Given the description of an element on the screen output the (x, y) to click on. 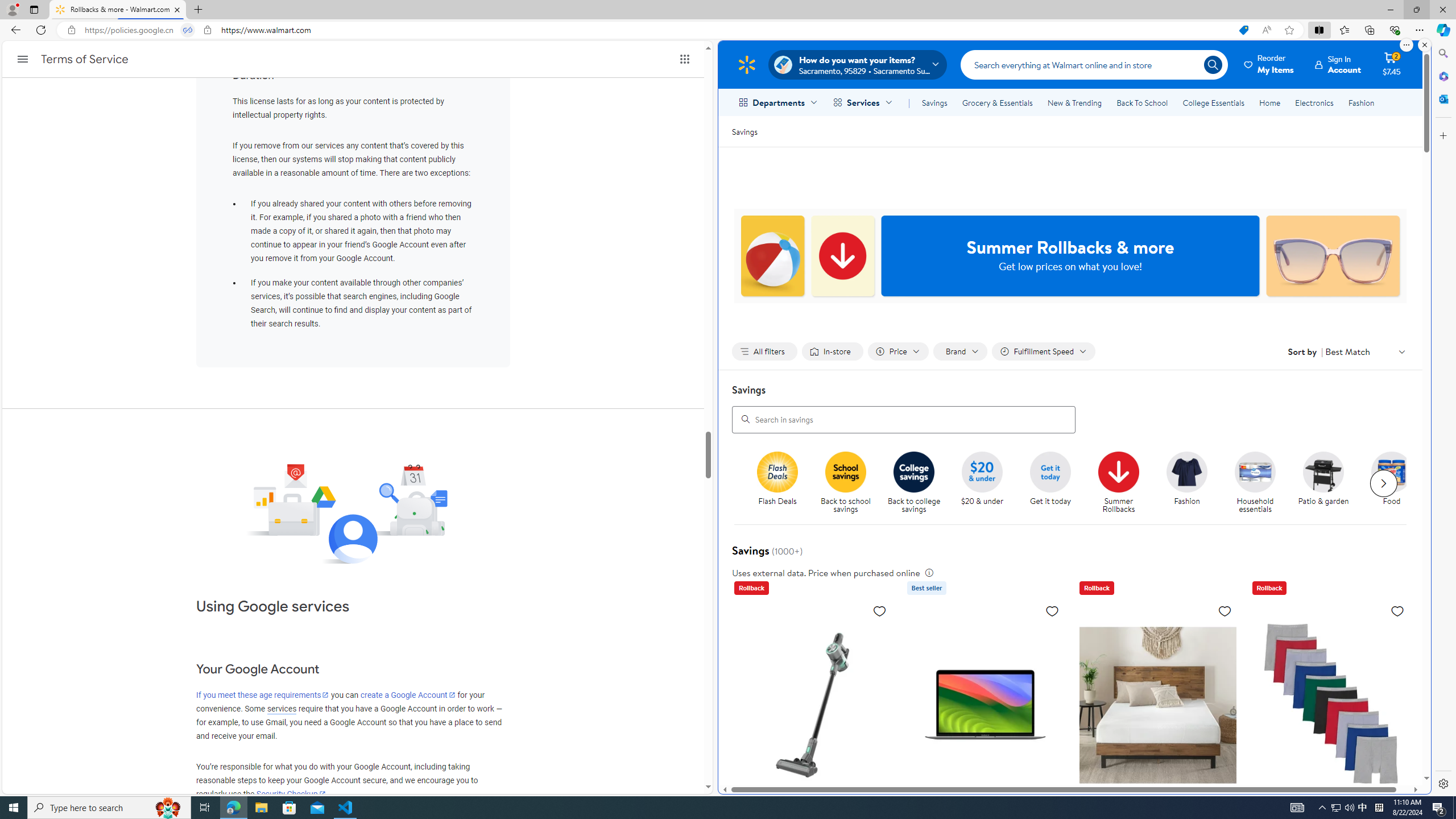
Flash deals Flash Deals (777, 478)
Search in savings (903, 419)
Back To School (1141, 102)
Electronics (1314, 102)
Get it today Get it today (1050, 478)
Summer Rollbacks & more Get low prices on what you love! (1069, 255)
College Essentials (1213, 102)
Sign In Account (1338, 64)
Patio & garden (1323, 471)
Back to College savings (913, 471)
Fashion (1191, 483)
